Given the description of an element on the screen output the (x, y) to click on. 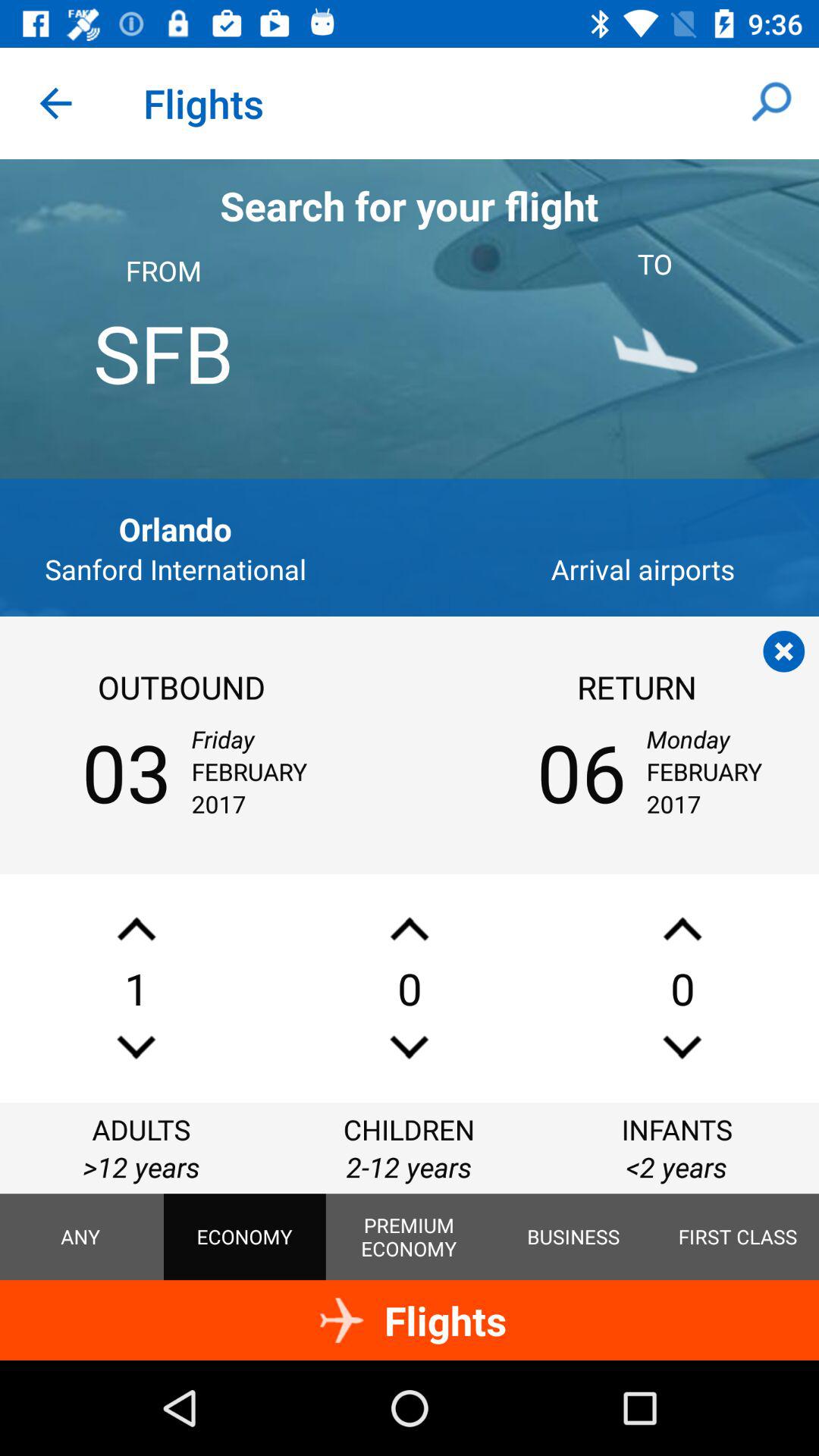
up (682, 928)
